Given the description of an element on the screen output the (x, y) to click on. 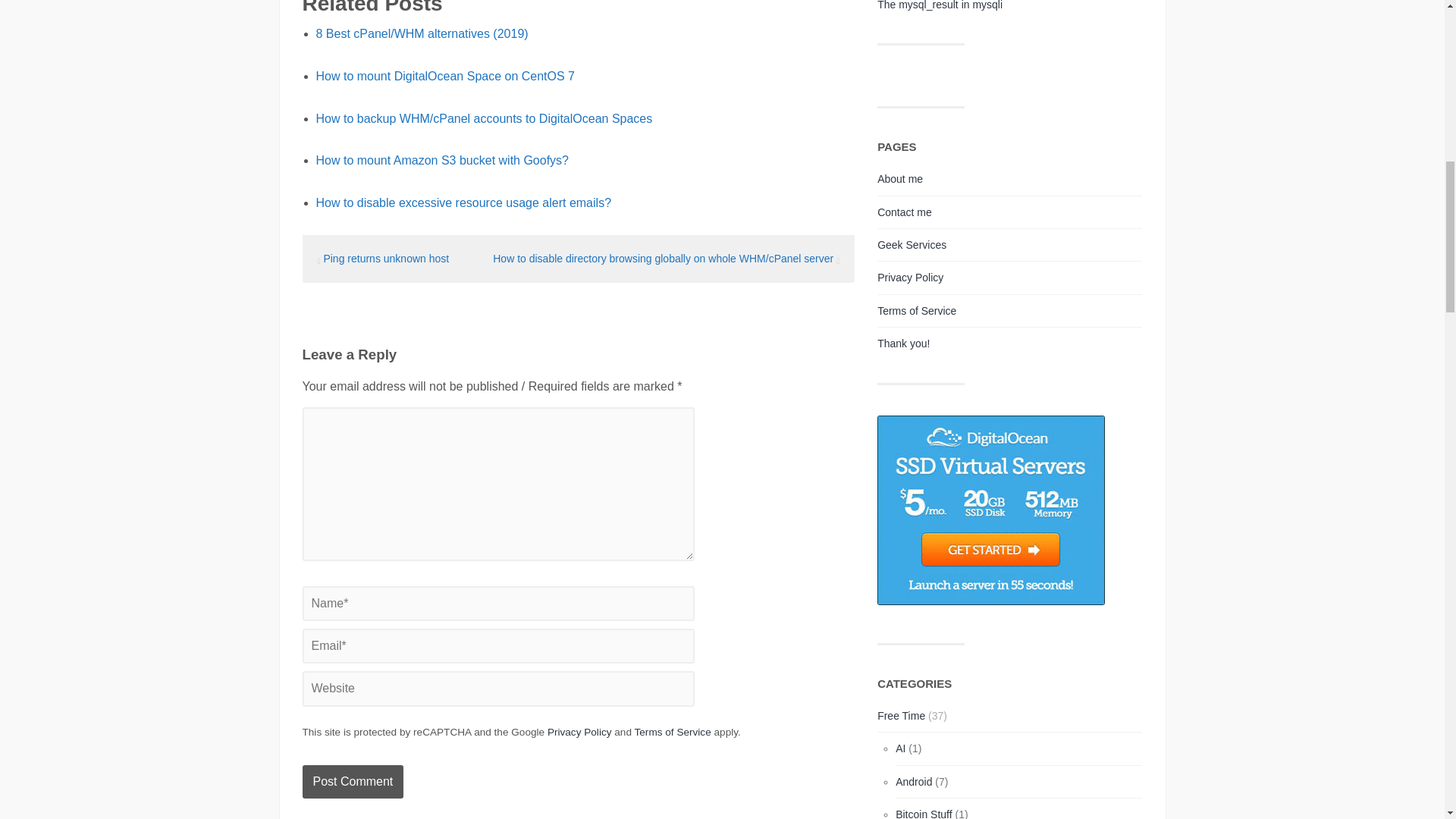
How to mount DigitalOcean Space on CentOS 7 (584, 76)
Post Comment (352, 781)
Ping returns unknown host (385, 258)
How to disable excessive resource usage alert emails? (584, 202)
Post Comment (352, 781)
Terms of Service (671, 731)
Privacy Policy (579, 731)
How to mount Amazon S3 bucket with Goofys? (584, 160)
